Given the description of an element on the screen output the (x, y) to click on. 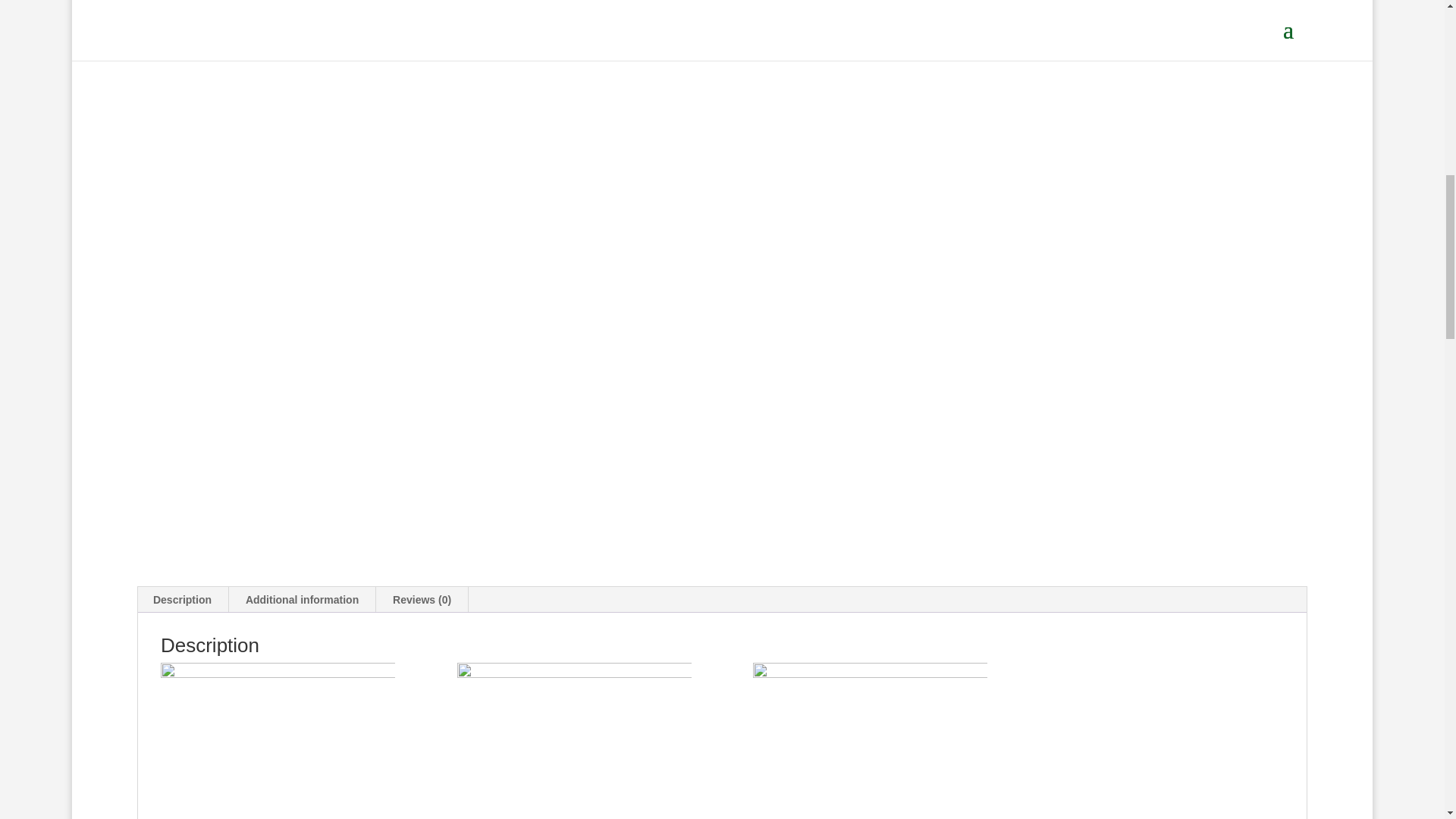
Lands-End-School-Uniform-Kids-Pre-Tied-Tie-0 (277, 740)
Lands-End-School-Uniform-Kids-Pre-Tied-Tie-0-0 (574, 740)
Lands-End-School-Uniform-Kids-Pre-Tied-Tie-0-1 (869, 740)
Description (182, 599)
Additional information (301, 599)
